Given the description of an element on the screen output the (x, y) to click on. 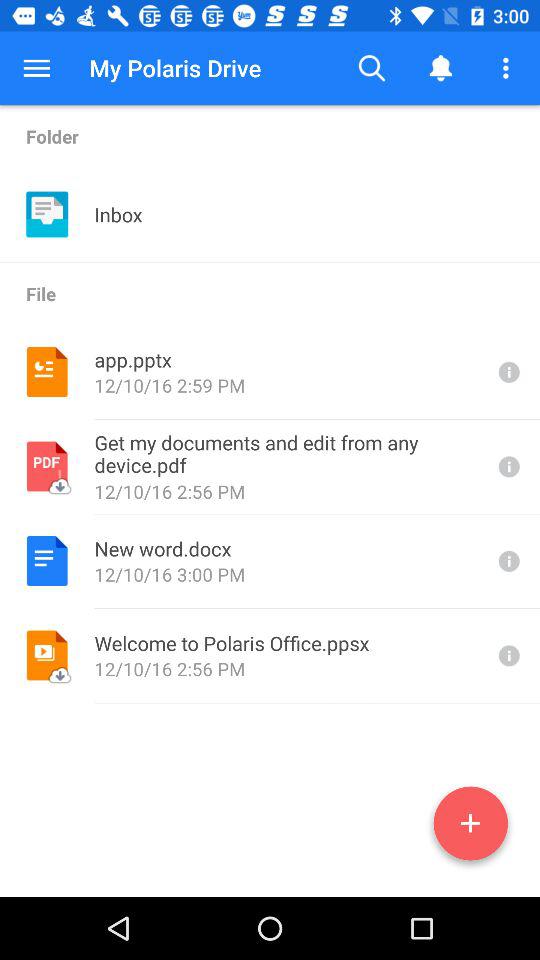
choose the item next to the my polaris drive icon (371, 67)
